Given the description of an element on the screen output the (x, y) to click on. 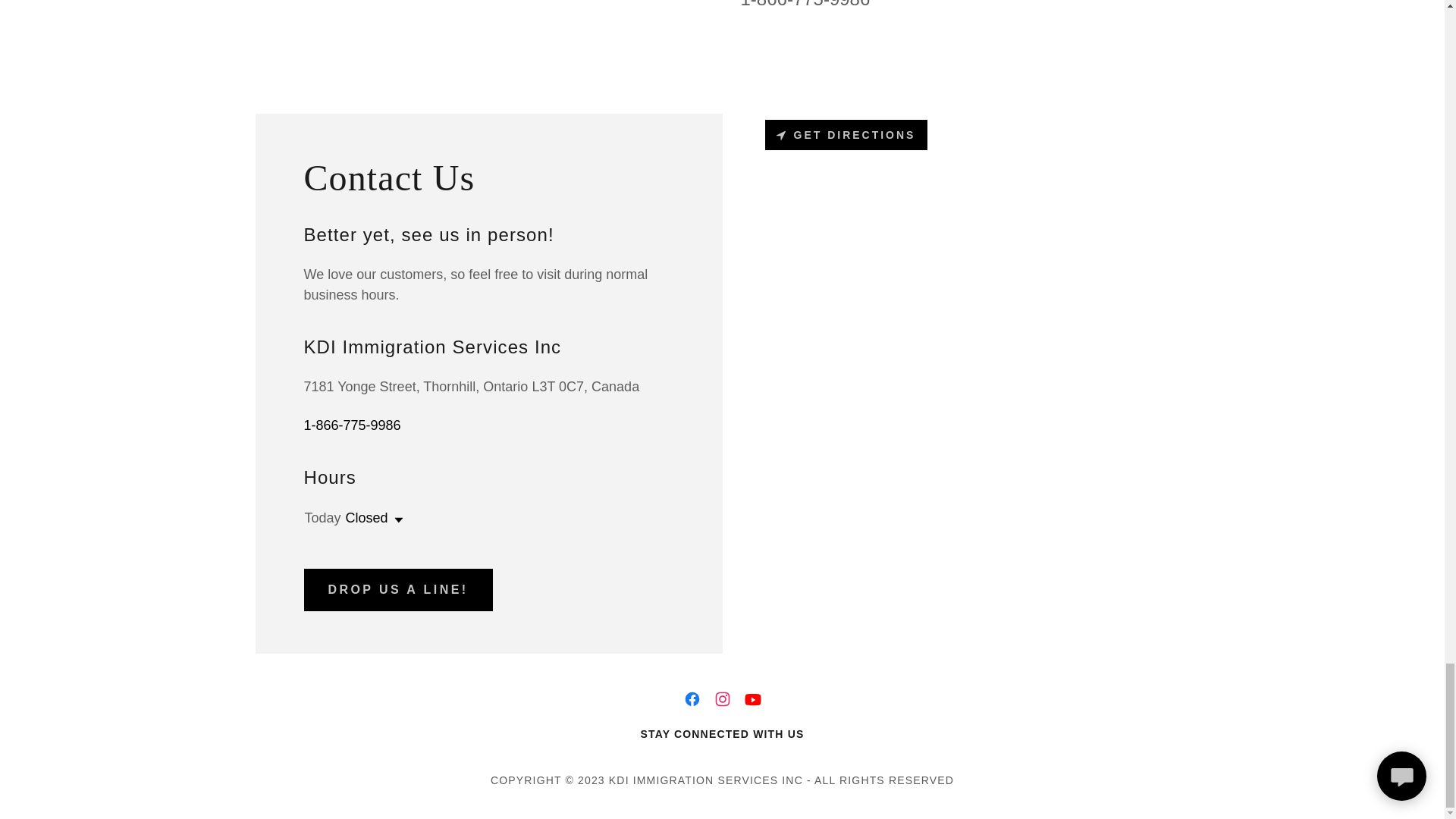
DROP US A LINE! (397, 589)
1-866-775-9986 (351, 425)
GET DIRECTIONS (845, 134)
